Given the description of an element on the screen output the (x, y) to click on. 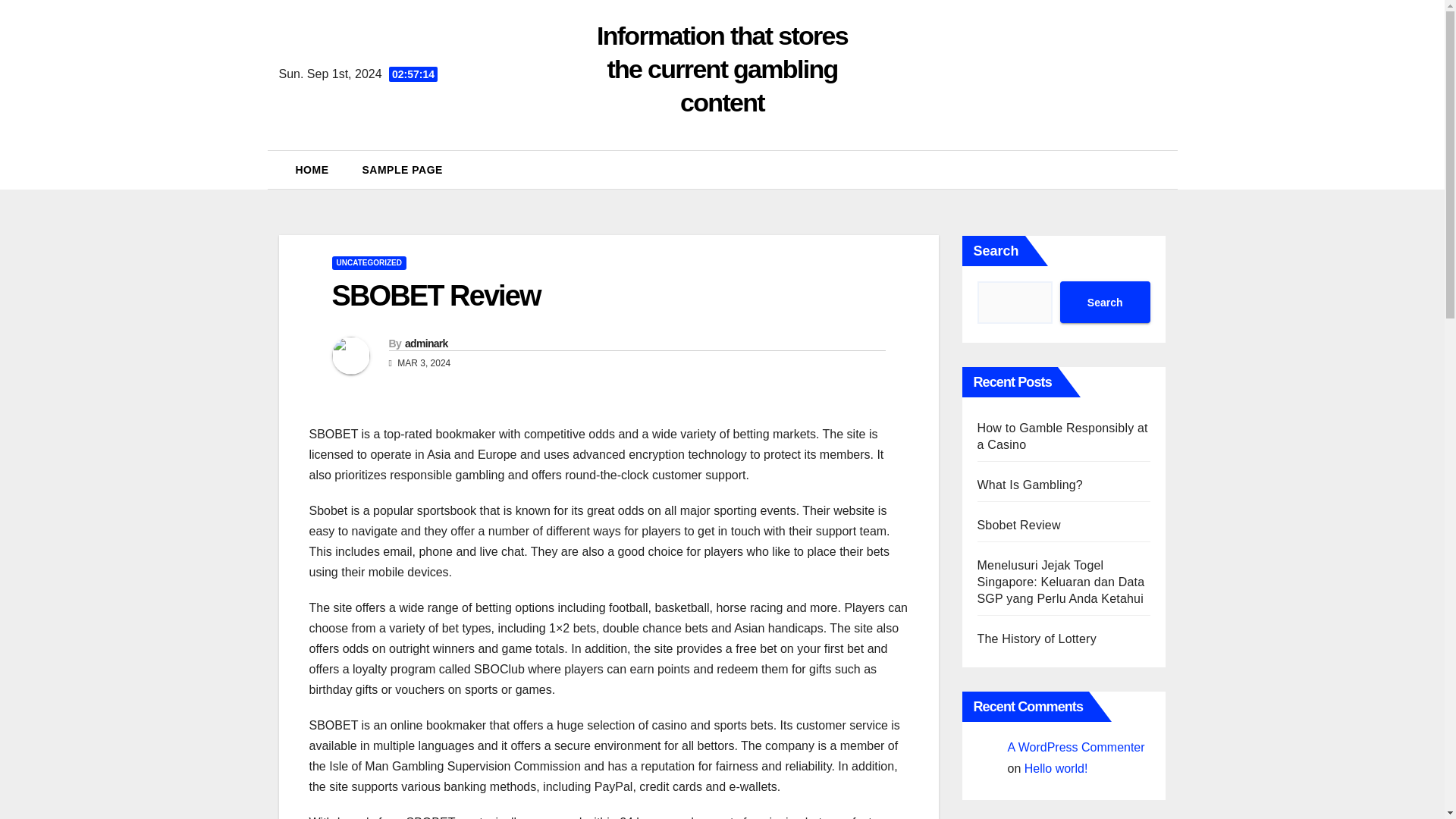
Permalink to: SBOBET Review (435, 296)
How to Gamble Responsibly at a Casino (1061, 436)
SAMPLE PAGE (403, 169)
Home (312, 169)
HOME (312, 169)
adminark (426, 343)
Sbobet Review (1017, 524)
UNCATEGORIZED (368, 263)
A WordPress Commenter (1075, 747)
